Given the description of an element on the screen output the (x, y) to click on. 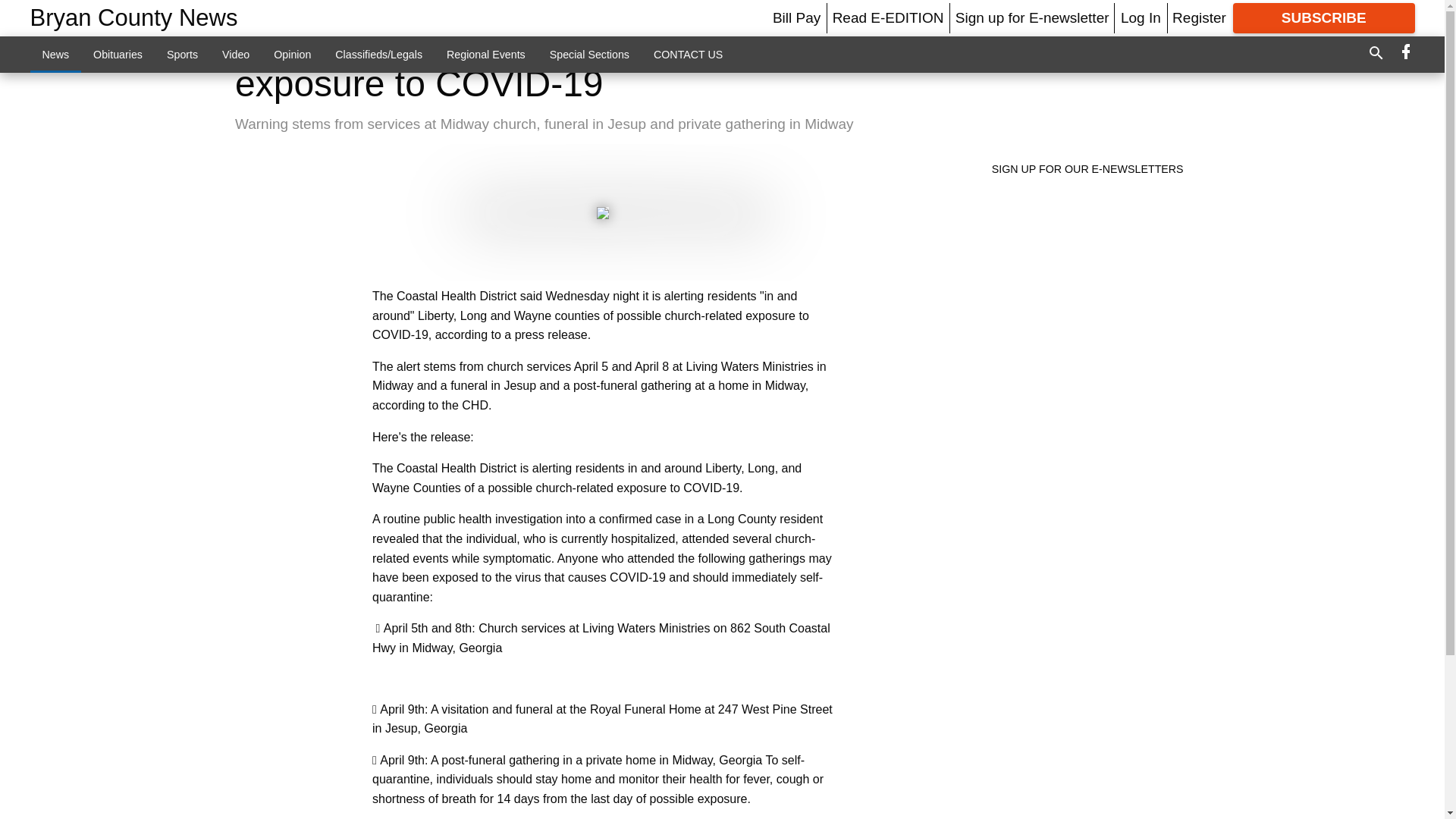
News (55, 54)
Sign up for E-newsletter (1032, 17)
Opinion (292, 54)
Bill Pay (797, 17)
Bryan County News (134, 17)
Sports (181, 54)
Obituaries (117, 54)
Video (235, 54)
SUBSCRIBE (1324, 18)
Log In (1140, 17)
Regional Events (485, 54)
Register (1198, 17)
Read E-EDITION (887, 17)
